Given the description of an element on the screen output the (x, y) to click on. 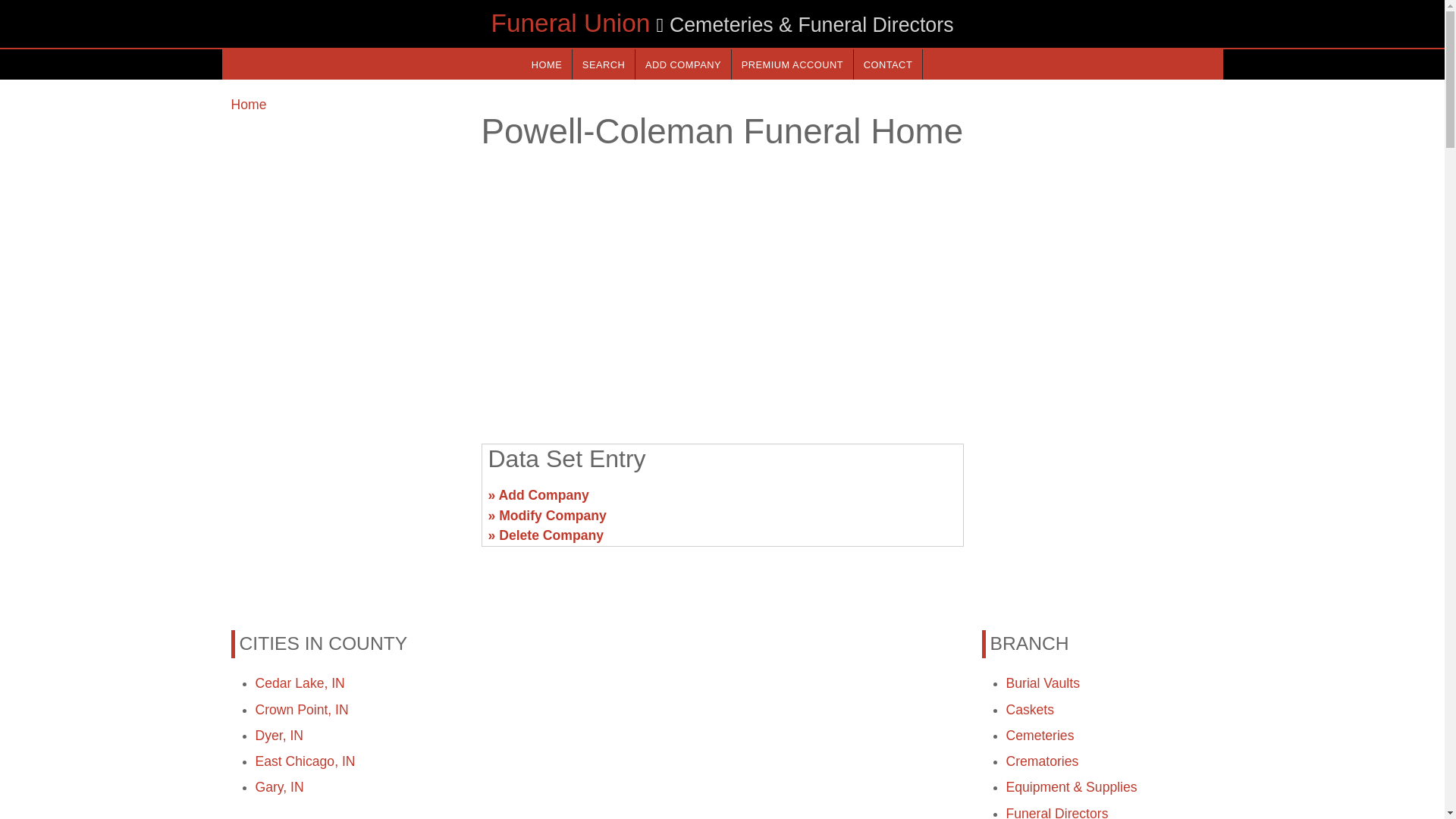
Crown Point, IN (300, 709)
Add a new company (682, 64)
Cemeteries (1040, 735)
PREMIUM ACCOUNT (792, 64)
CONTACT (887, 64)
Funeral Directors (1057, 812)
Dyer, IN (278, 735)
Home (248, 104)
HOME (546, 64)
ADD COMPANY (682, 64)
